Given the description of an element on the screen output the (x, y) to click on. 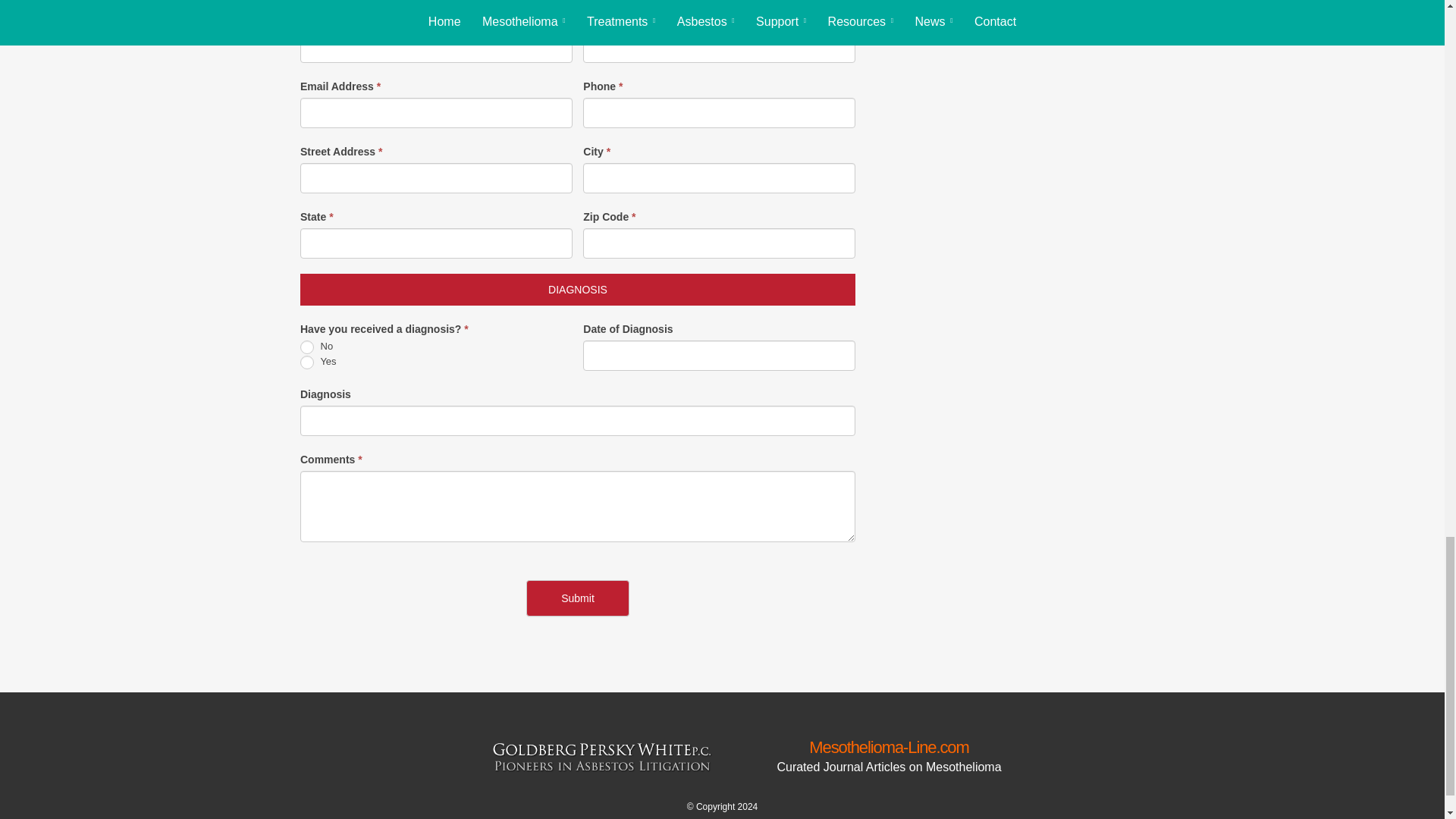
Yes (306, 362)
No (306, 346)
